Given the description of an element on the screen output the (x, y) to click on. 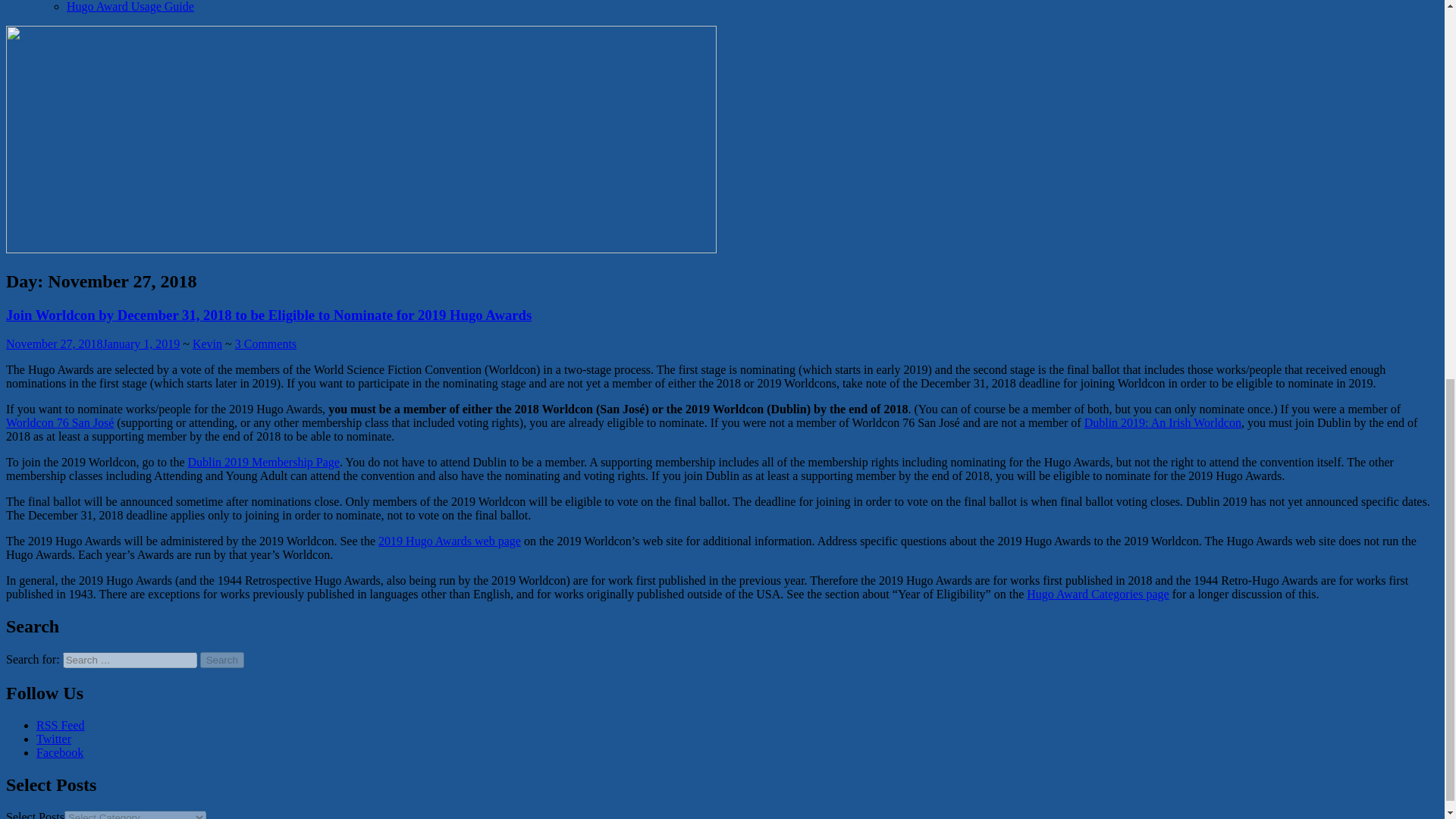
Search (222, 659)
November 27, 2018January 1, 2019 (92, 343)
Search (222, 659)
Dublin 2019 Membership Page (263, 461)
Hugo Award Usage Guide (129, 6)
2019 Hugo Awards web page (449, 540)
3 Comments (265, 343)
Hugo Award Categories page (1097, 594)
Dublin 2019: An Irish Worldcon (1162, 422)
Kevin (207, 343)
